Given the description of an element on the screen output the (x, y) to click on. 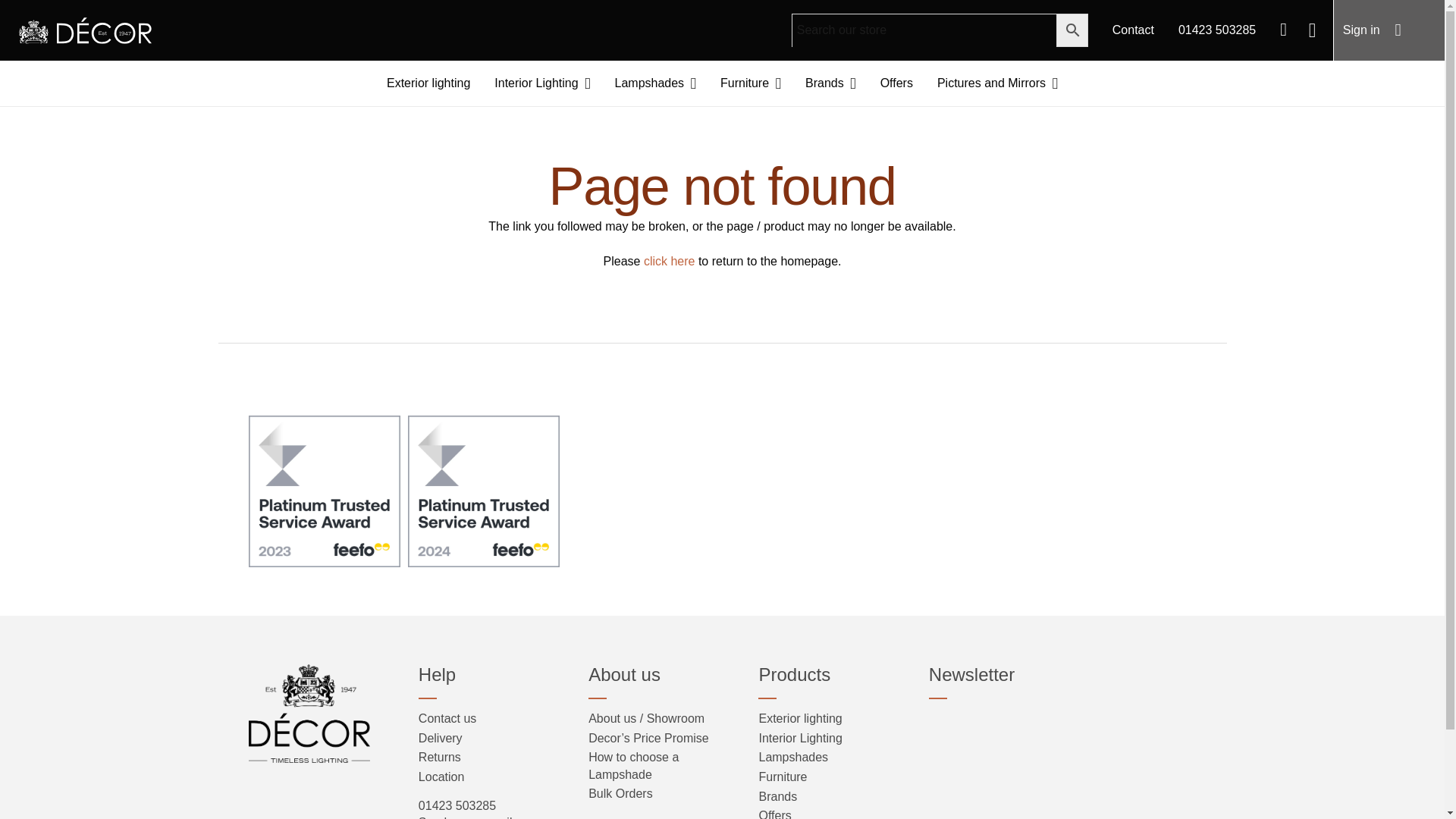
01423 503285 (1216, 29)
Sign in (1361, 30)
Exterior lighting (427, 83)
Lampshades (654, 83)
Interior Lighting (541, 83)
Contact (1133, 29)
